Given the description of an element on the screen output the (x, y) to click on. 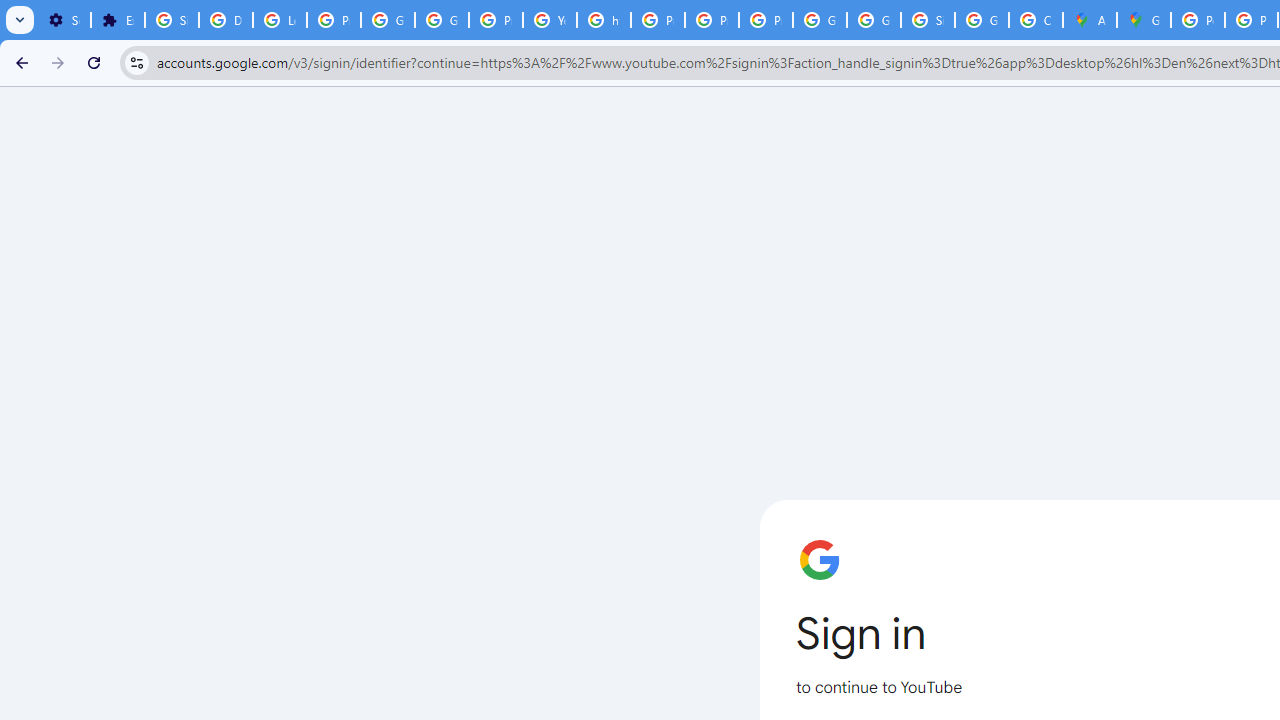
Privacy Help Center - Policies Help (657, 20)
YouTube (550, 20)
Delete photos & videos - Computer - Google Photos Help (225, 20)
Google Maps (1144, 20)
Learn how to find your photos - Google Photos Help (280, 20)
Extensions (117, 20)
Google Account Help (387, 20)
Sign in - Google Accounts (171, 20)
Sign in - Google Accounts (927, 20)
